Given the description of an element on the screen output the (x, y) to click on. 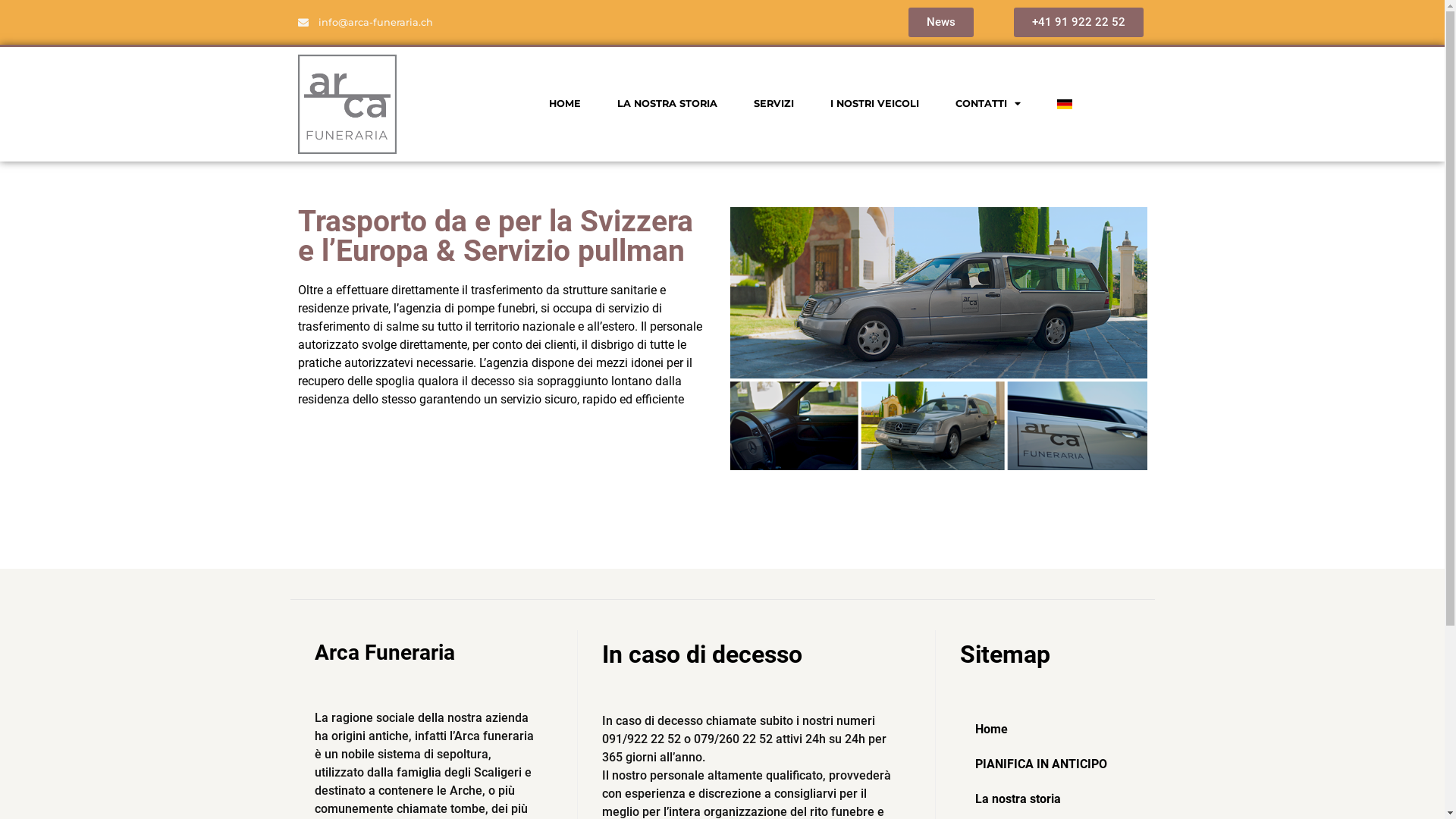
PIANIFICA IN ANTICIPO Element type: text (1049, 763)
Home Element type: text (1049, 729)
LA NOSTRA STORIA Element type: text (667, 103)
CONTATTI Element type: text (987, 103)
HOME Element type: text (564, 103)
SERVIZI Element type: text (773, 103)
News Element type: text (940, 22)
+41 91 922 22 52 Element type: text (1078, 22)
info@arca-funeraria.ch Element type: text (365, 22)
La nostra storia Element type: text (1049, 798)
I NOSTRI VEICOLI Element type: text (874, 103)
